Given the description of an element on the screen output the (x, y) to click on. 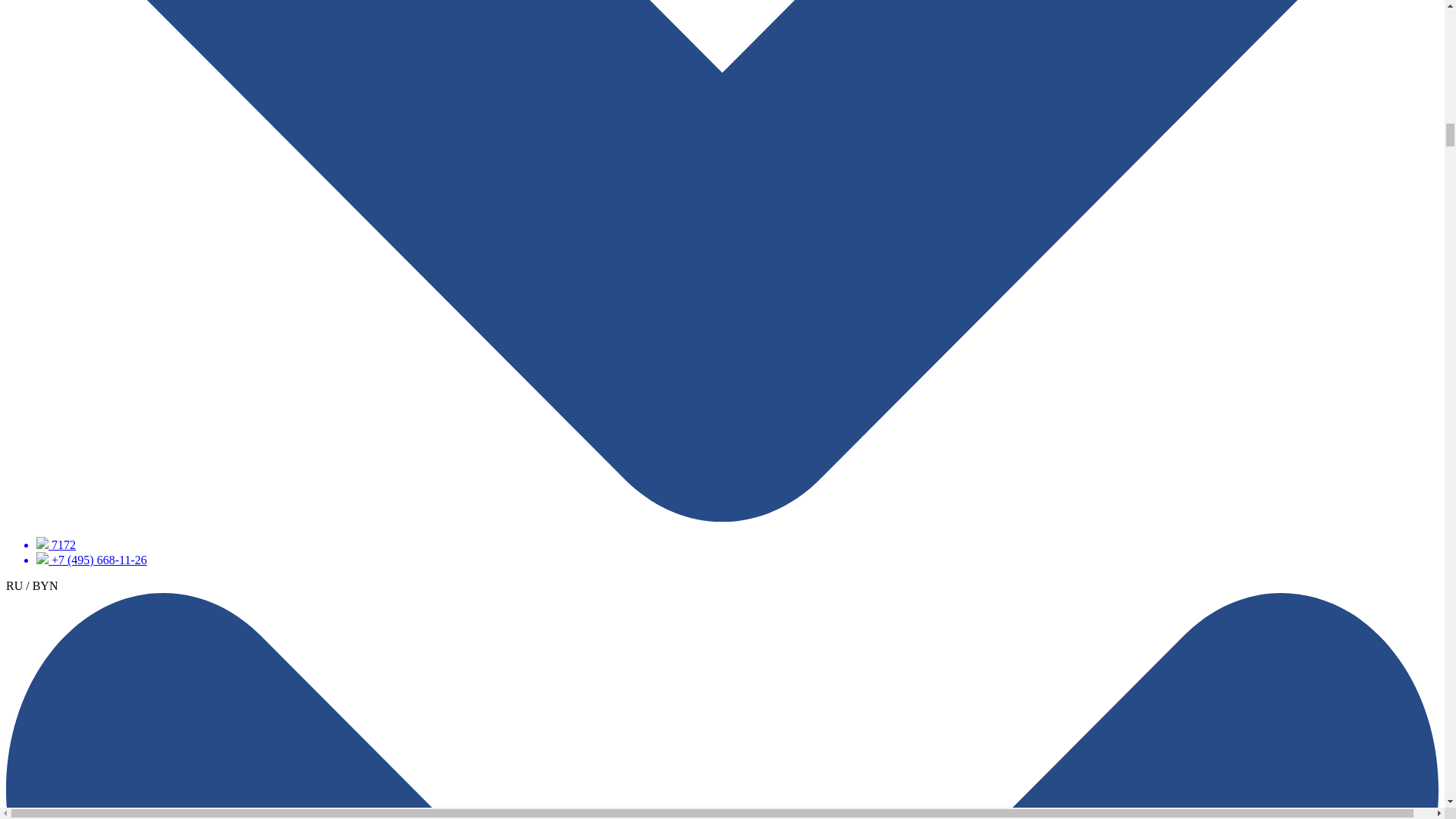
7172 (134, 544)
